Given the description of an element on the screen output the (x, y) to click on. 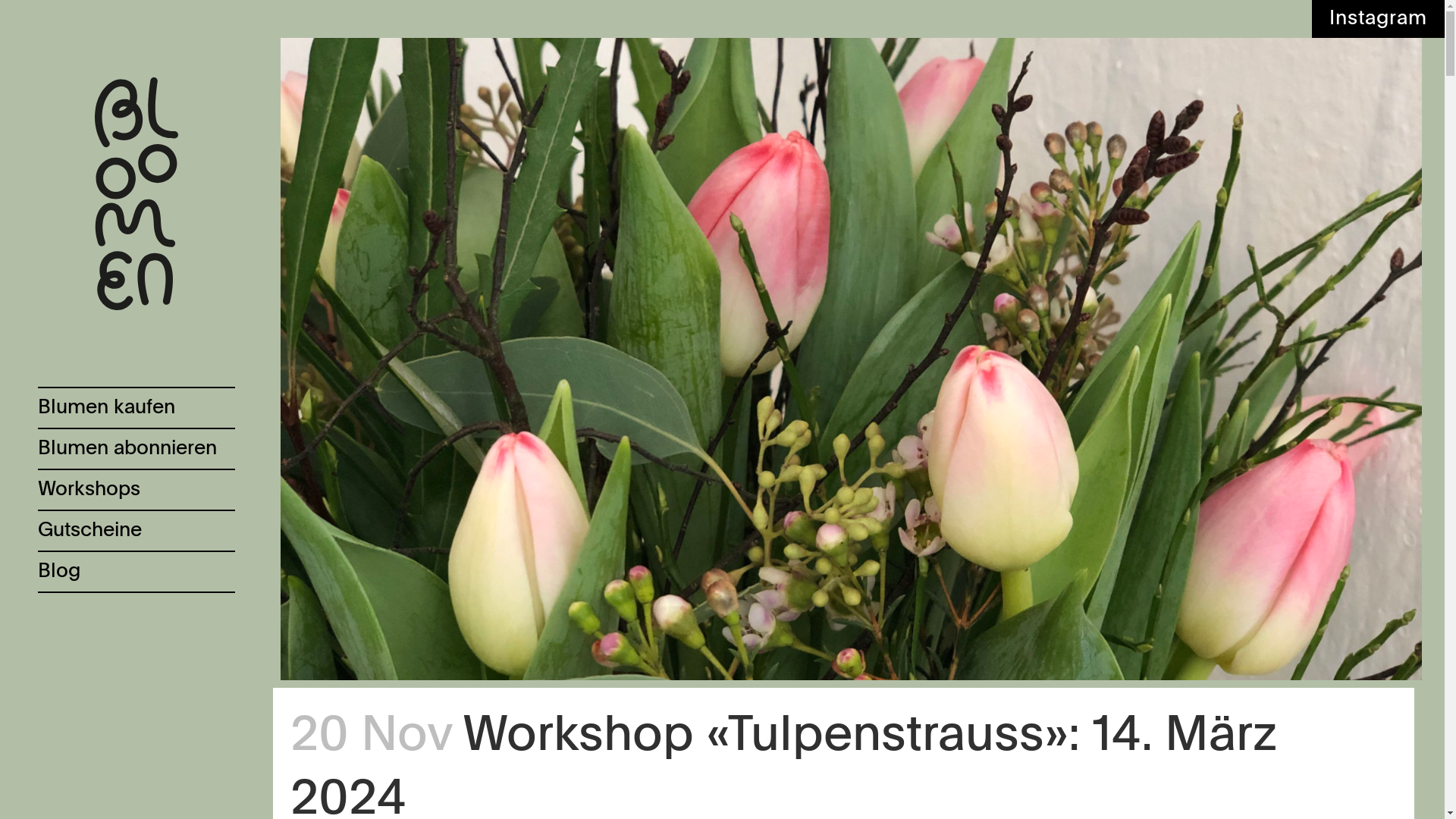
Blumen kaufen Element type: text (136, 406)
Workshops Element type: text (136, 488)
Blumen abonnieren Element type: text (136, 447)
Gutscheine Element type: text (136, 529)
Instagram Element type: text (1377, 18)
Blog Element type: text (136, 570)
